Given the description of an element on the screen output the (x, y) to click on. 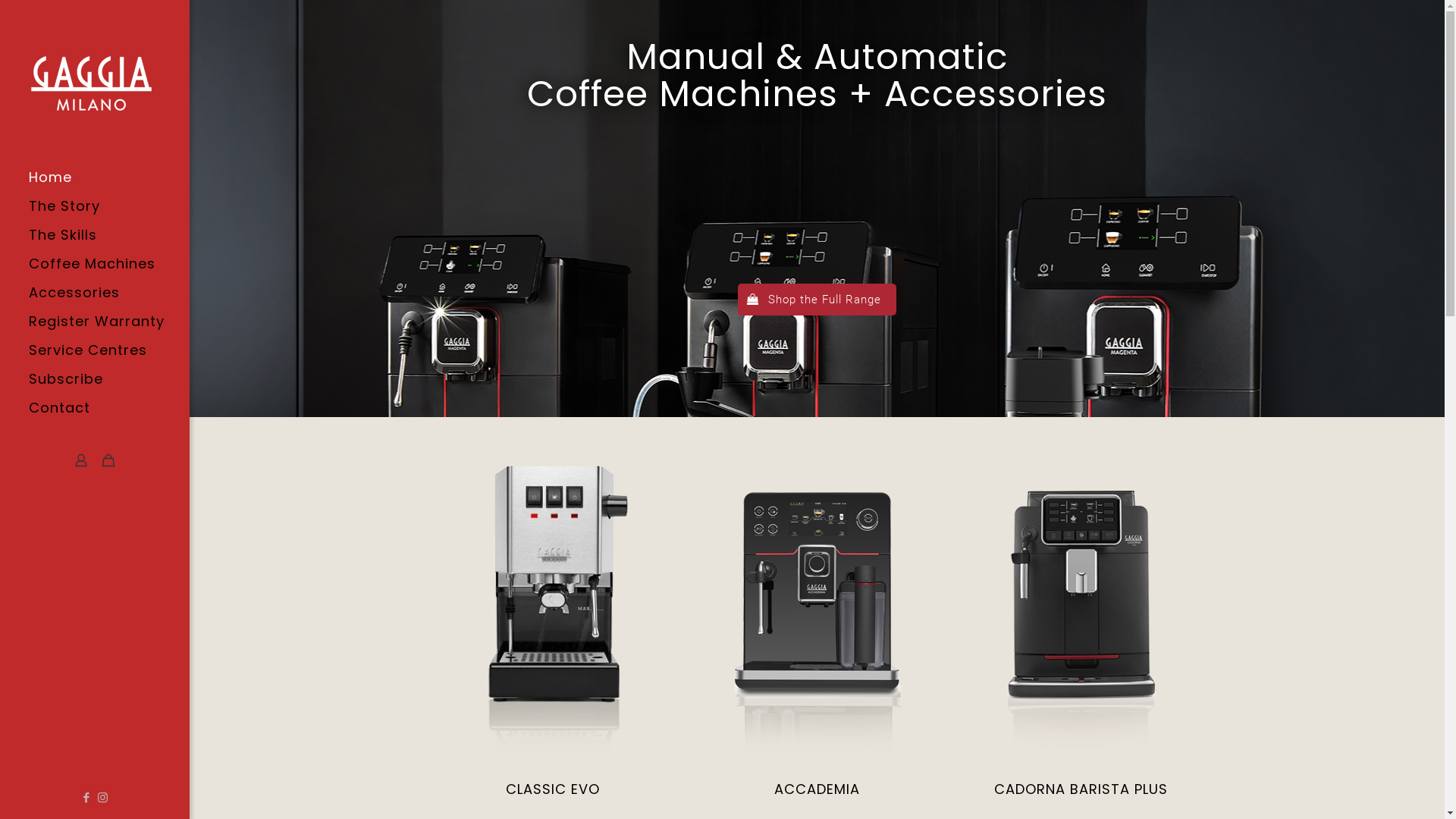
Coffee Machines Element type: text (94, 263)
The Story Element type: text (94, 205)
The Skills Element type: text (94, 234)
Facebook Element type: hover (86, 796)
Gaggia Australia Element type: hover (108, 81)
Service Centres Element type: text (94, 349)
Home Element type: text (94, 177)
Subscribe Element type: text (94, 378)
Register Warranty Element type: text (94, 321)
Accessories Element type: text (94, 292)
Contact Element type: text (94, 407)
Instagram Element type: hover (102, 796)
Shop the Full Range Element type: text (816, 299)
